Given the description of an element on the screen output the (x, y) to click on. 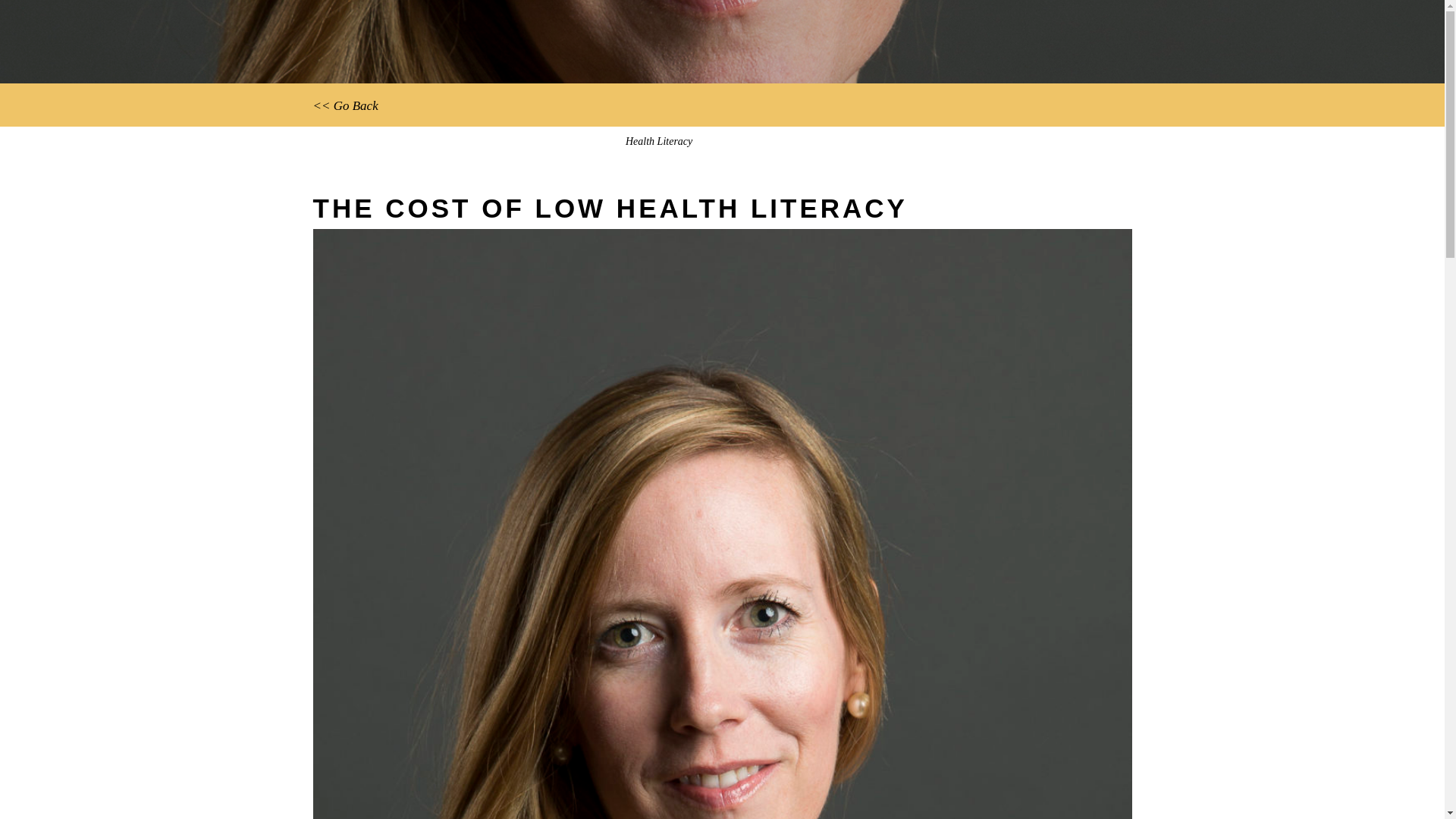
Health Literacy (659, 141)
